Given the description of an element on the screen output the (x, y) to click on. 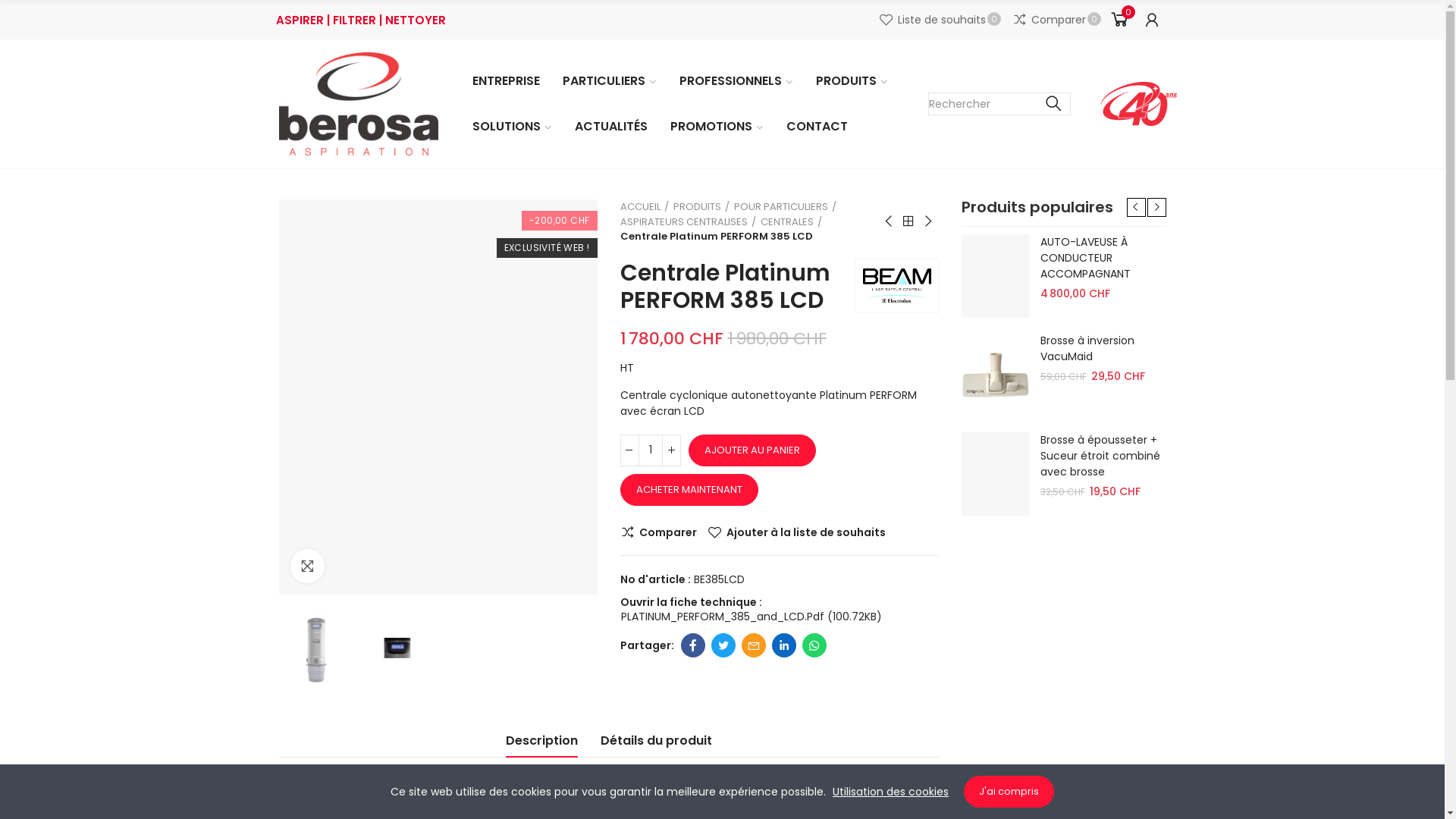
Envoyer Element type: text (773, 636)
0 Element type: text (1117, 19)
PRODUITS Element type: text (701, 206)
Twitter Element type: text (723, 645)
Comparer Element type: text (658, 531)
Beam Element type: hover (896, 284)
Utilisation des cookies Element type: text (890, 791)
PARTICULIERS Element type: text (608, 80)
CENTRALES Element type: text (790, 221)
LindedIn Element type: text (783, 645)
Facebook Element type: text (692, 645)
ENTREPRISE Element type: text (505, 80)
PLATINUM_PERFORM_385_And_LCD.Pdf (100.72KB) Element type: text (750, 616)
ACHETER MAINTENANT Element type: text (689, 489)
ACCUEIL Element type: text (644, 206)
PROFESSIONNELS Element type: text (735, 80)
POUR PARTICULIERS Element type: text (785, 206)
AJOUTER AU PANIER Element type: text (751, 450)
ASPIRATEURS CENTRALISES Element type: text (688, 221)
PROMOTIONS Element type: text (715, 126)
SOLUTIONS Element type: text (511, 126)
WhatsApp Element type: text (814, 645)
CONTACT Element type: text (816, 126)
Produit suivant Element type: text (927, 221)
Email Element type: text (753, 645)
Contactez-nous Element type: text (326, 787)
Comparer
0 Element type: text (1056, 19)
BE385LCD - Platinum Perform 385 Lcd Element type: hover (316, 647)
Mon compte Element type: hover (1151, 19)
Description Element type: text (541, 744)
Chercher Element type: text (1053, 103)
Liste de souhaits
0 Element type: text (939, 19)
BE385LCD - Platinum Perform 385 Lcd Element type: hover (397, 647)
J'ai compris Element type: text (1008, 791)
PRODUITS Element type: text (851, 80)
